Given the description of an element on the screen output the (x, y) to click on. 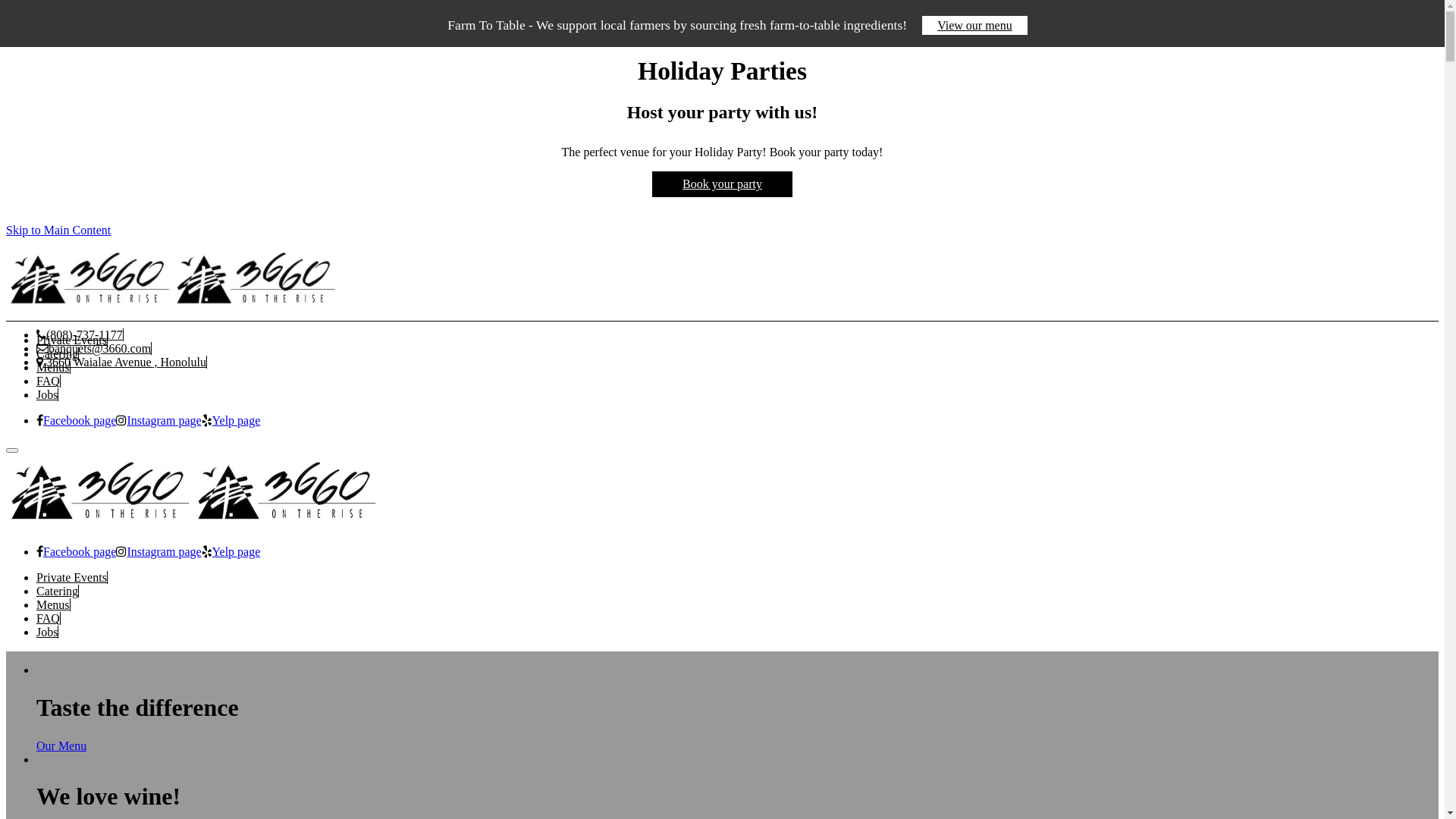
Yelp page Element type: text (230, 420)
Book your party Element type: text (722, 184)
Menus Element type: text (53, 604)
FAQ Element type: text (48, 617)
Our Menu Element type: text (61, 746)
Toggle navigation Element type: text (12, 450)
Instagram page Element type: text (158, 420)
Menus Element type: text (53, 366)
FAQ Element type: text (48, 380)
Yelp page Element type: text (230, 551)
View our menu Element type: text (974, 24)
Catering Element type: text (57, 590)
Private Events Element type: text (71, 339)
Private Events Element type: text (71, 577)
Catering Element type: text (57, 353)
banquets@3660.com Element type: text (93, 348)
Jobs Element type: text (47, 394)
Skip to Main Content Element type: text (58, 229)
Facebook page Element type: text (76, 420)
Jobs Element type: text (47, 631)
3660 Waialae Avenue , Honolulu Element type: text (121, 361)
(808)-737-1177 Element type: text (79, 334)
Instagram page Element type: text (158, 551)
Facebook page Element type: text (76, 551)
